Given the description of an element on the screen output the (x, y) to click on. 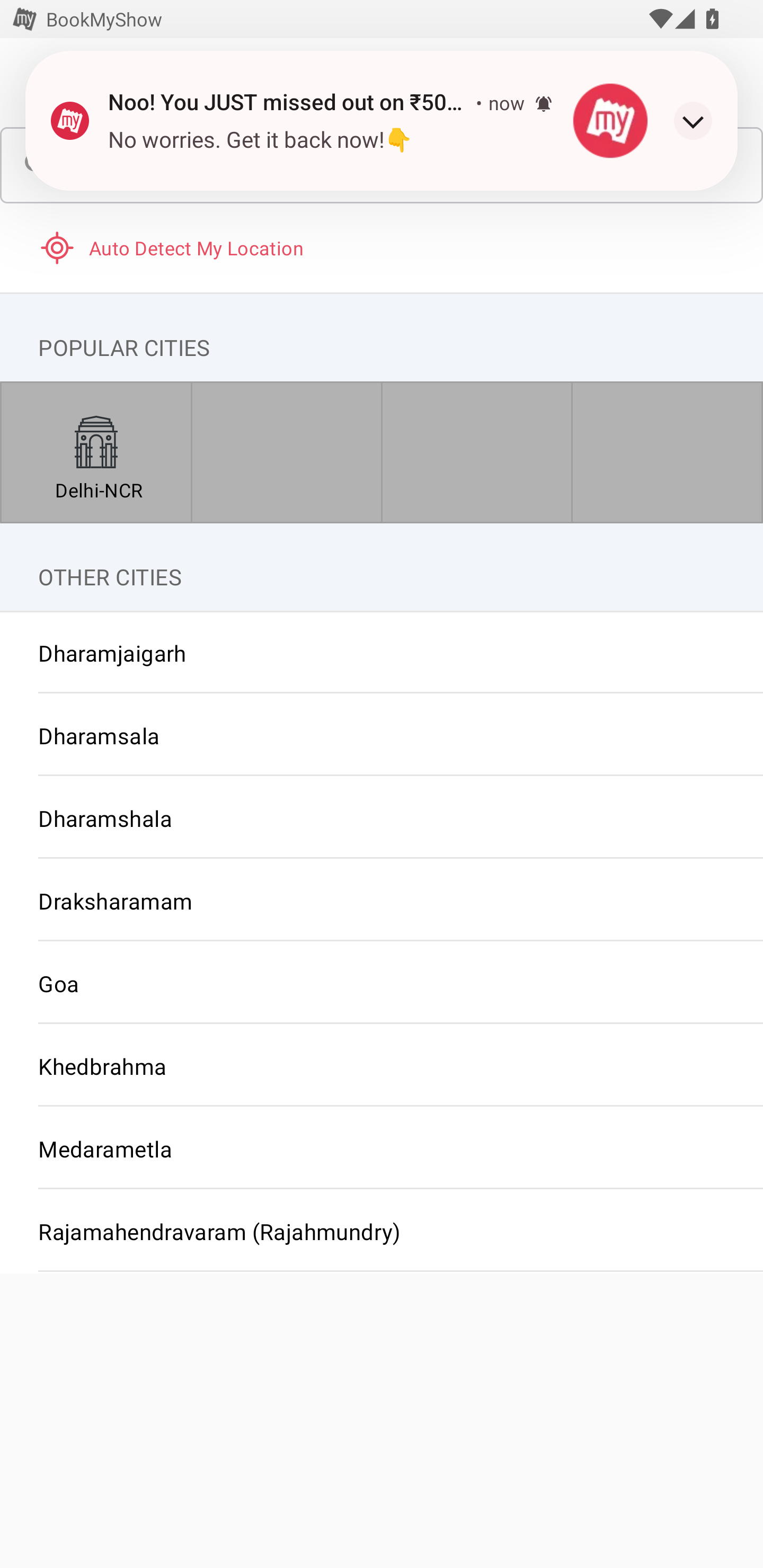
Auto Detect My Location (381, 247)
Delhi-NCR (95, 452)
Dharamjaigarh (381, 653)
Dharamsala (381, 735)
Dharamshala (381, 818)
Draksharamam (381, 900)
Goa (381, 982)
Khedbrahma (381, 1066)
Medarametla (381, 1148)
Rajamahendravaram (Rajahmundry) (381, 1230)
